Given the description of an element on the screen output the (x, y) to click on. 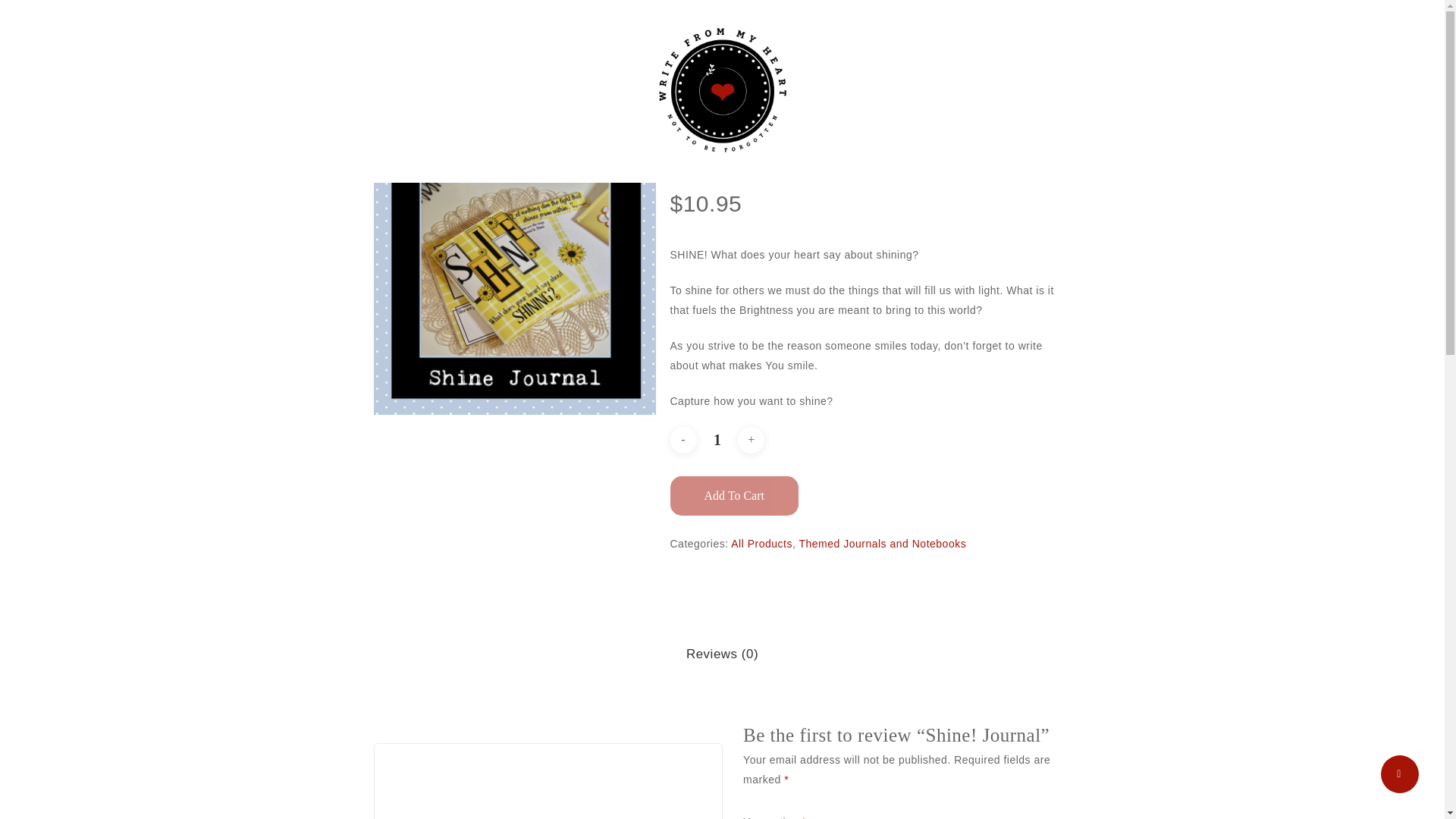
- (683, 439)
Themed Journals and Notebooks (881, 543)
Add To Cart (733, 495)
Themed Journals and Notebooks (545, 109)
All Products (761, 543)
Home (386, 109)
1 (717, 439)
Shop (434, 109)
